Given the description of an element on the screen output the (x, y) to click on. 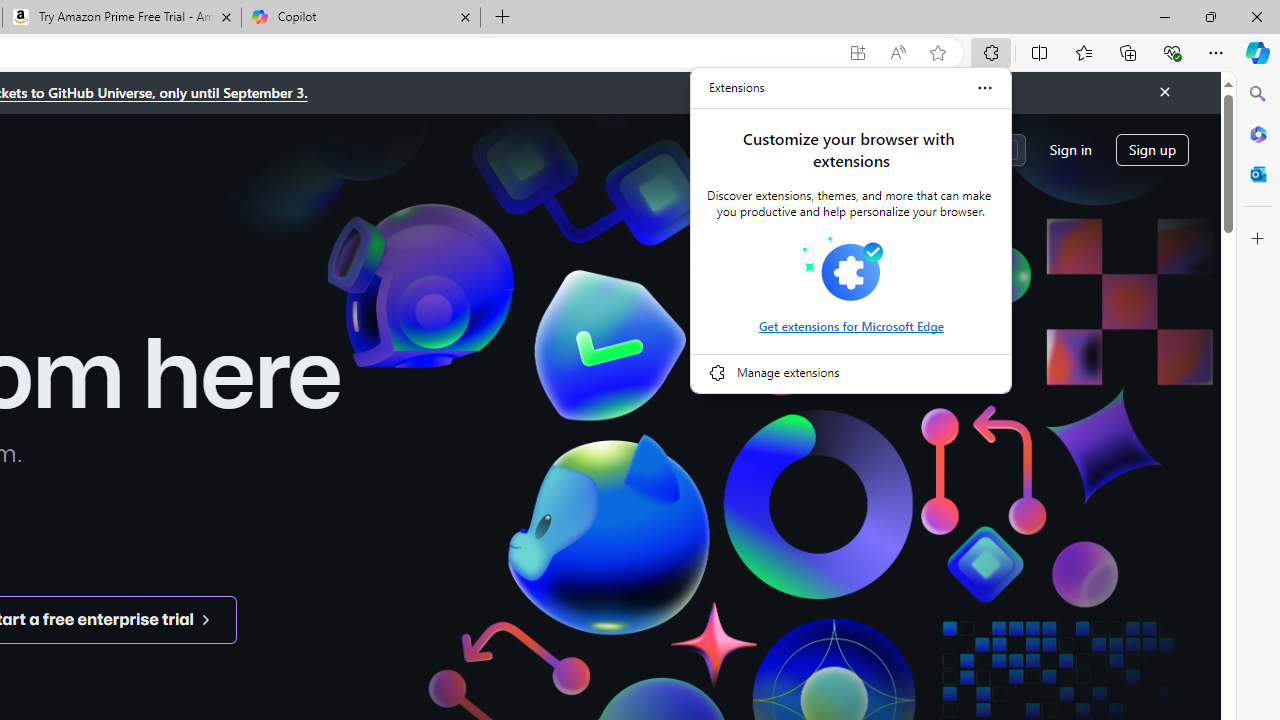
Manage extensions (851, 372)
Extensions (737, 88)
Get extensions for Microsoft Edge (850, 326)
